Given the description of an element on the screen output the (x, y) to click on. 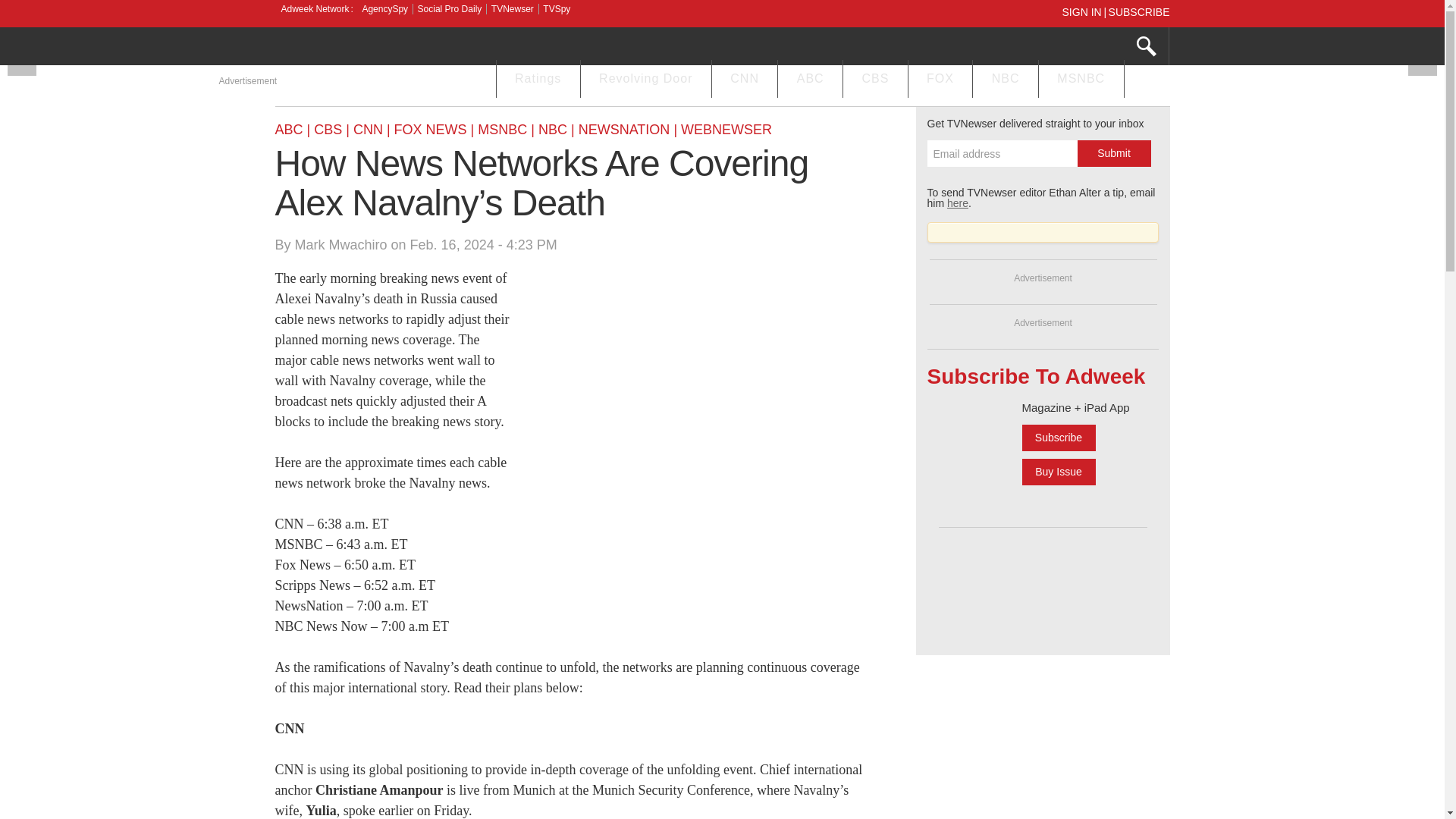
Submit (1113, 153)
Revolving Door (645, 80)
SIGN IN (1084, 11)
CBS (875, 80)
NBC (1005, 80)
AgencySpy (384, 9)
ABC (810, 80)
SUBSCRIBE (1139, 11)
Covering national television news (388, 47)
CNN (744, 80)
